Given the description of an element on the screen output the (x, y) to click on. 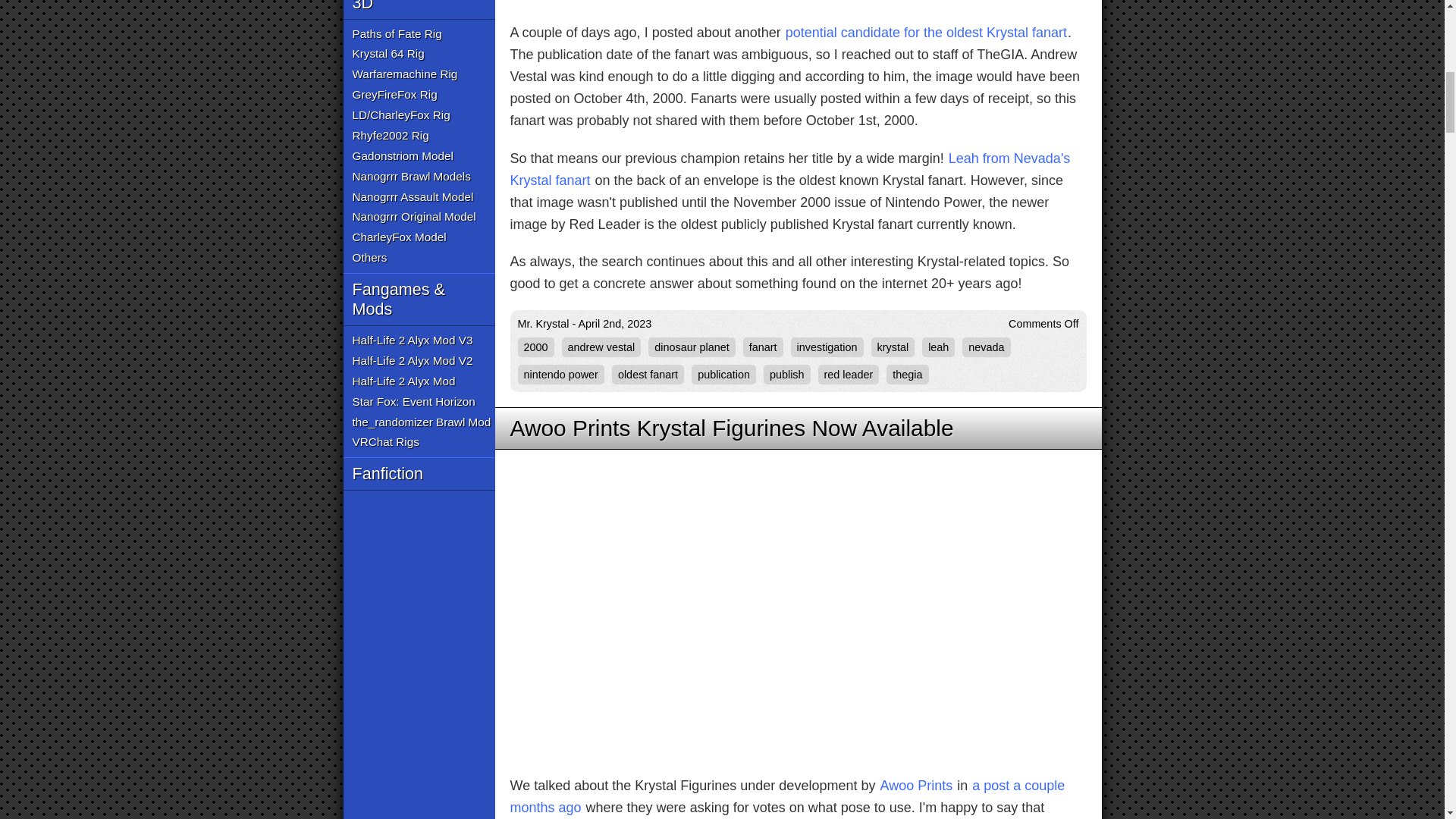
3D (418, 9)
Warfaremachine Rig (404, 74)
Krystal 64 Rig (387, 54)
Paths of Fate Rig (396, 33)
GreyFireFox Rig (394, 94)
